Given the description of an element on the screen output the (x, y) to click on. 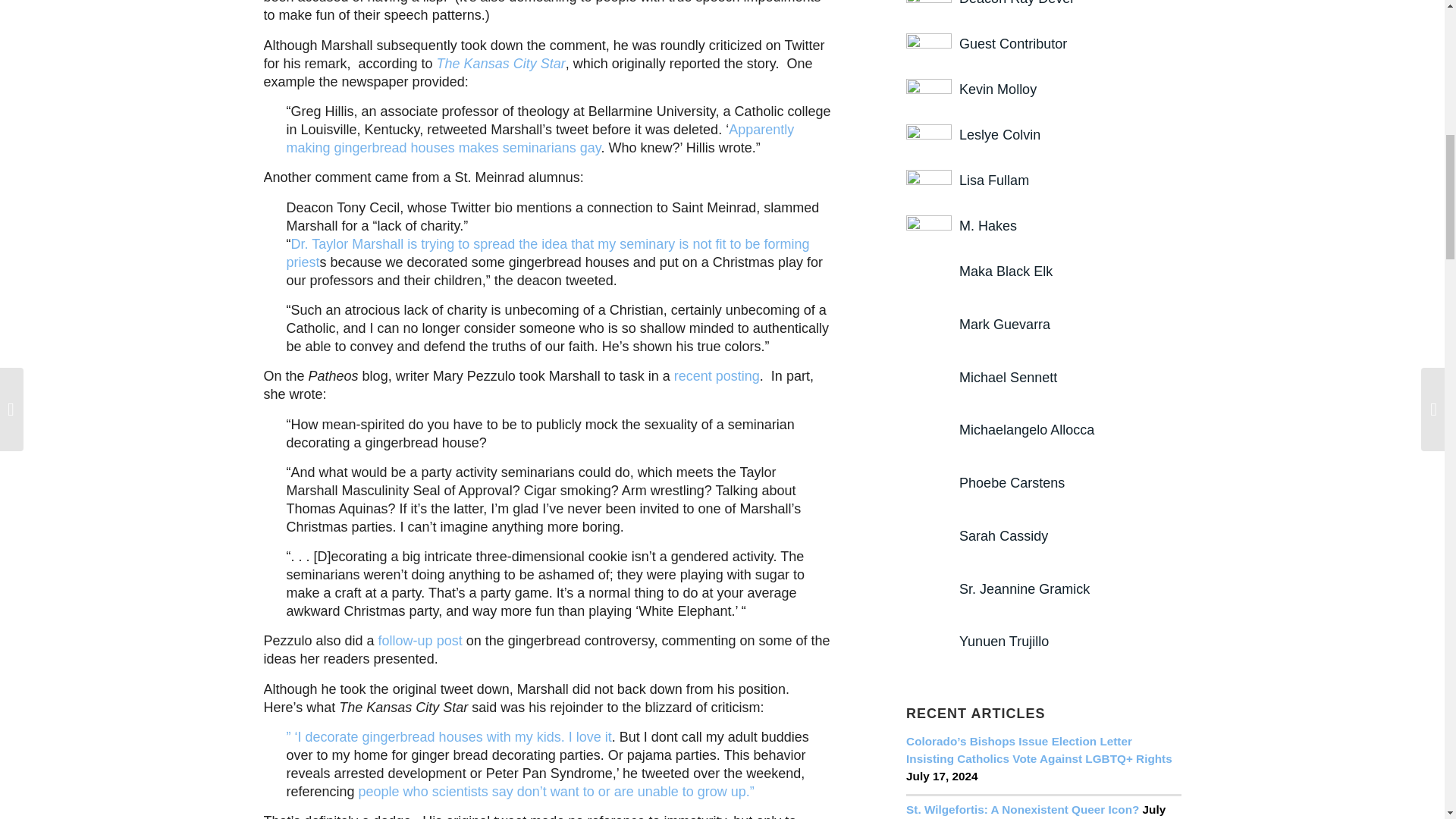
follow-up post (418, 640)
Apparently making gingerbread houses makes seminarians gay (540, 138)
The Kansas City Star (501, 63)
recent posting (714, 376)
